Given the description of an element on the screen output the (x, y) to click on. 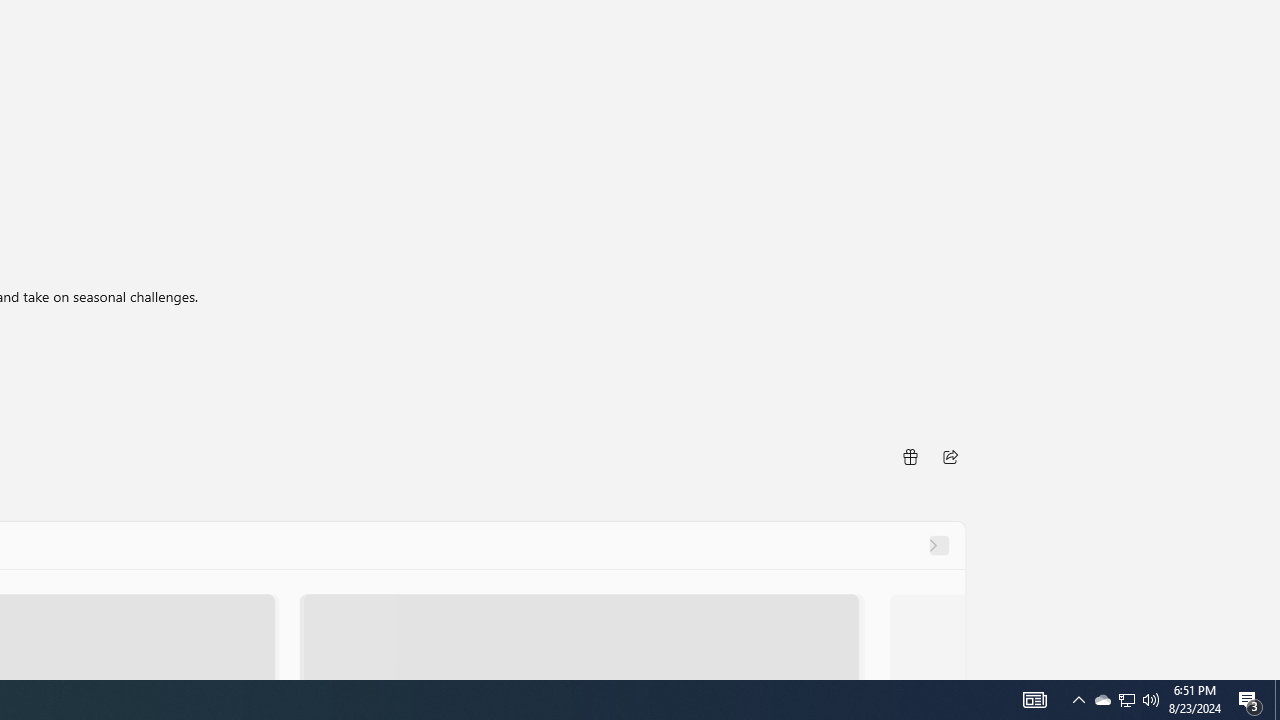
Explore PC Game Pass (844, 560)
Vertical Small Increase (1272, 672)
Buy as gift (909, 456)
Share (950, 456)
Open Xbox App (844, 603)
